Given the description of an element on the screen output the (x, y) to click on. 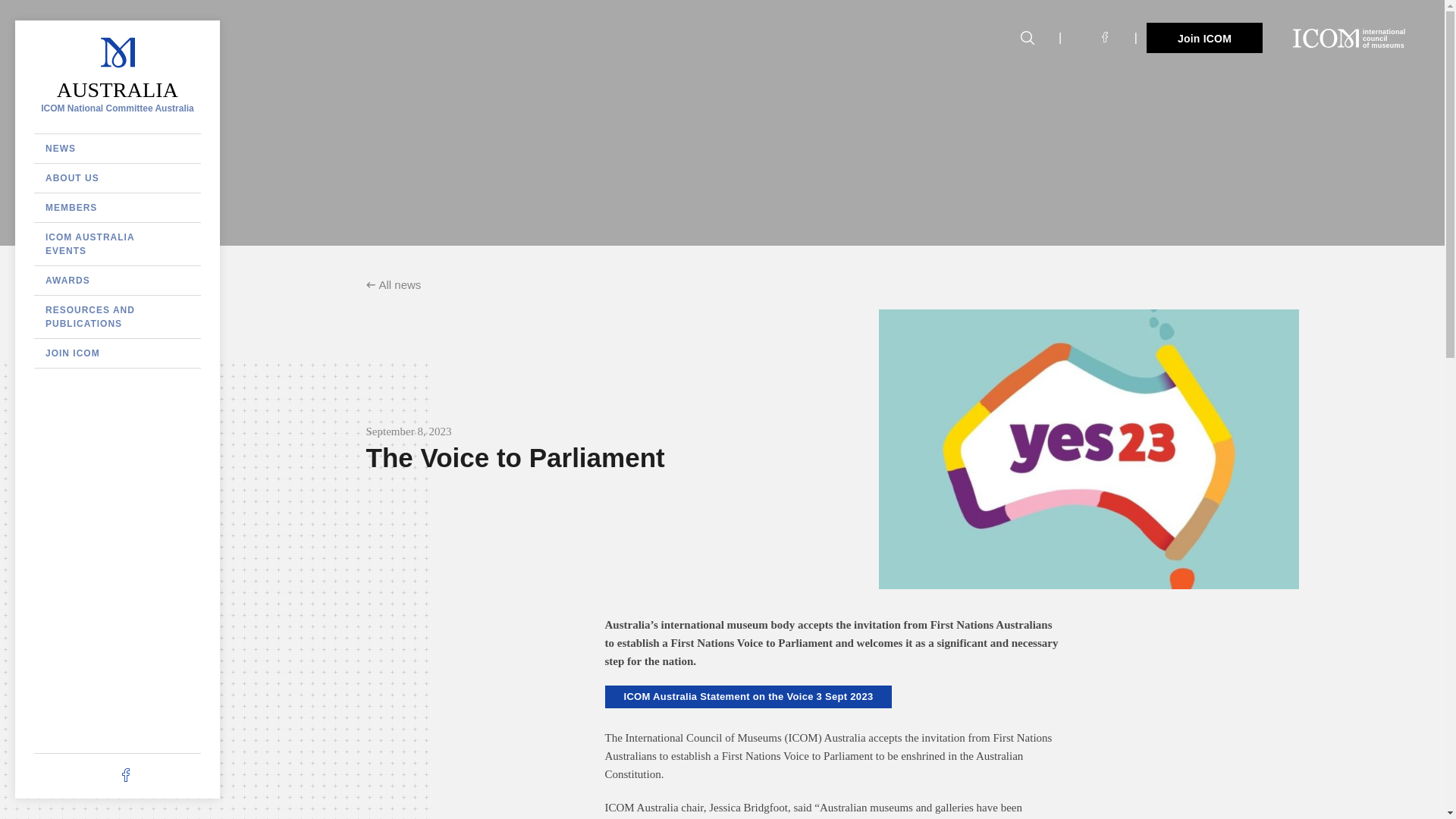
ICOM AUSTRALIA EVENTS (1349, 37)
RESOURCES AND PUBLICATIONS (116, 243)
ABOUT US (116, 316)
AWARDS (116, 177)
NEWS (116, 280)
Join ICOM (116, 148)
JOIN ICOM (1204, 37)
AUSTRALIA (116, 353)
MEMBERS (116, 89)
